Given the description of an element on the screen output the (x, y) to click on. 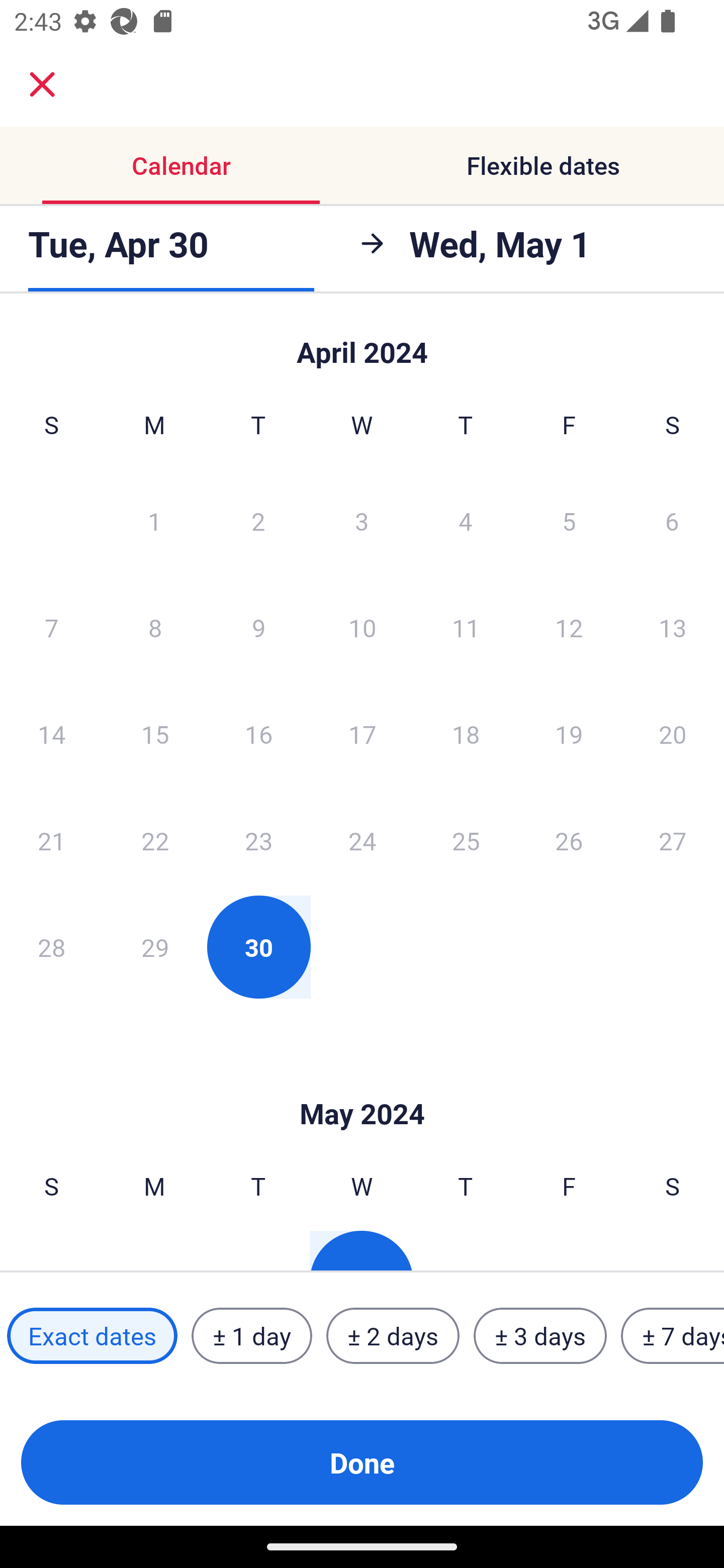
close. (42, 84)
Flexible dates (542, 164)
Skip to Done (362, 343)
1 Monday, April 1, 2024 (154, 520)
2 Tuesday, April 2, 2024 (257, 520)
3 Wednesday, April 3, 2024 (361, 520)
4 Thursday, April 4, 2024 (465, 520)
5 Friday, April 5, 2024 (568, 520)
6 Saturday, April 6, 2024 (672, 520)
7 Sunday, April 7, 2024 (51, 626)
8 Monday, April 8, 2024 (155, 626)
9 Tuesday, April 9, 2024 (258, 626)
10 Wednesday, April 10, 2024 (362, 626)
11 Thursday, April 11, 2024 (465, 626)
12 Friday, April 12, 2024 (569, 626)
13 Saturday, April 13, 2024 (672, 626)
14 Sunday, April 14, 2024 (51, 733)
15 Monday, April 15, 2024 (155, 733)
16 Tuesday, April 16, 2024 (258, 733)
17 Wednesday, April 17, 2024 (362, 733)
18 Thursday, April 18, 2024 (465, 733)
19 Friday, April 19, 2024 (569, 733)
20 Saturday, April 20, 2024 (672, 733)
21 Sunday, April 21, 2024 (51, 840)
22 Monday, April 22, 2024 (155, 840)
23 Tuesday, April 23, 2024 (258, 840)
24 Wednesday, April 24, 2024 (362, 840)
25 Thursday, April 25, 2024 (465, 840)
26 Friday, April 26, 2024 (569, 840)
27 Saturday, April 27, 2024 (672, 840)
28 Sunday, April 28, 2024 (51, 946)
29 Monday, April 29, 2024 (155, 946)
Skip to Done (362, 1083)
Exact dates (92, 1335)
± 1 day (251, 1335)
± 2 days (392, 1335)
± 3 days (539, 1335)
± 7 days (672, 1335)
Done (361, 1462)
